Given the description of an element on the screen output the (x, y) to click on. 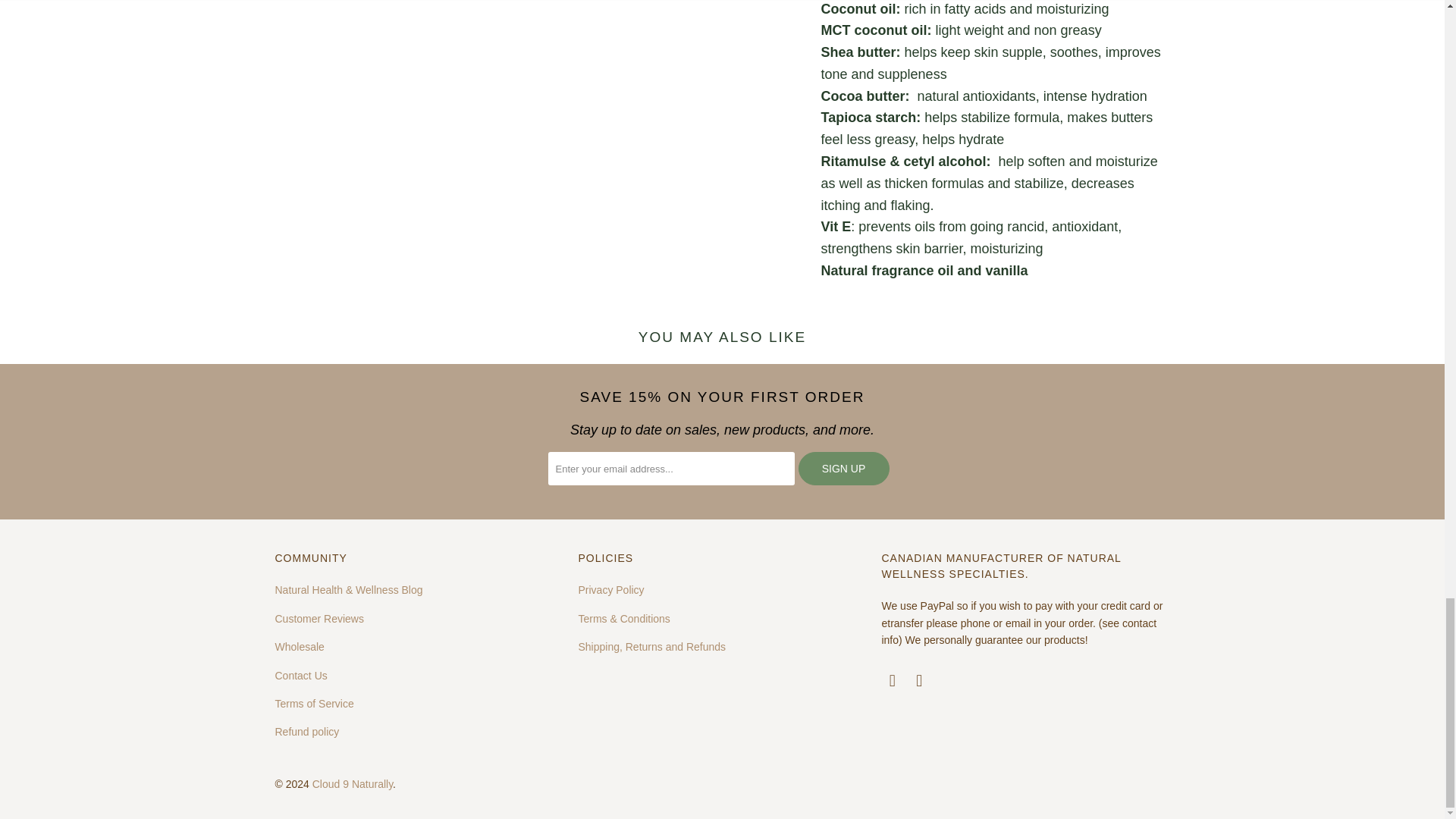
Sign Up (842, 468)
Cloud 9 Naturally on Facebook (892, 680)
Cloud 9 Naturally on Instagram (919, 680)
